Given the description of an element on the screen output the (x, y) to click on. 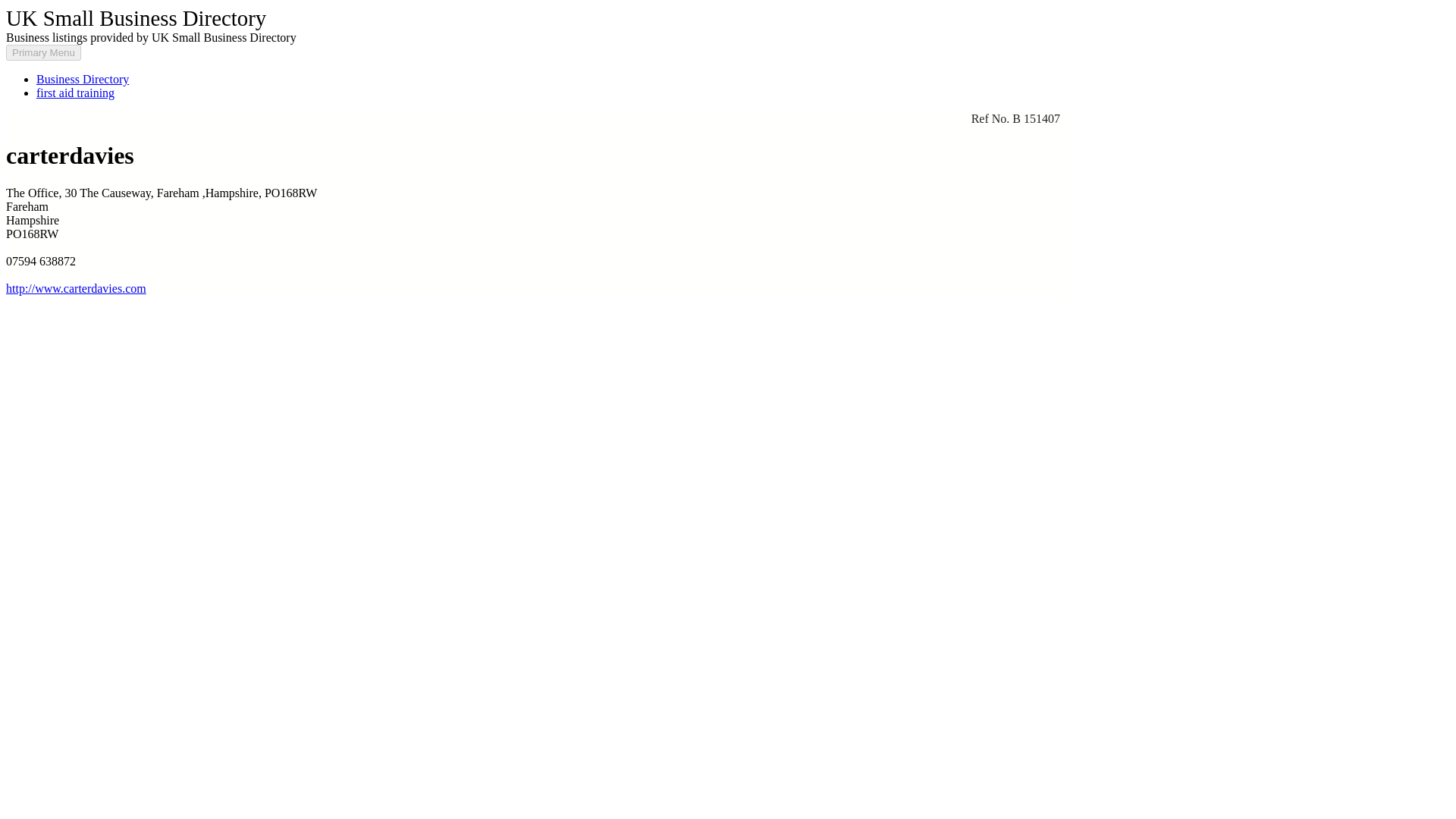
Primary Menu (43, 52)
Business Directory (82, 78)
first aid training (75, 92)
